Given the description of an element on the screen output the (x, y) to click on. 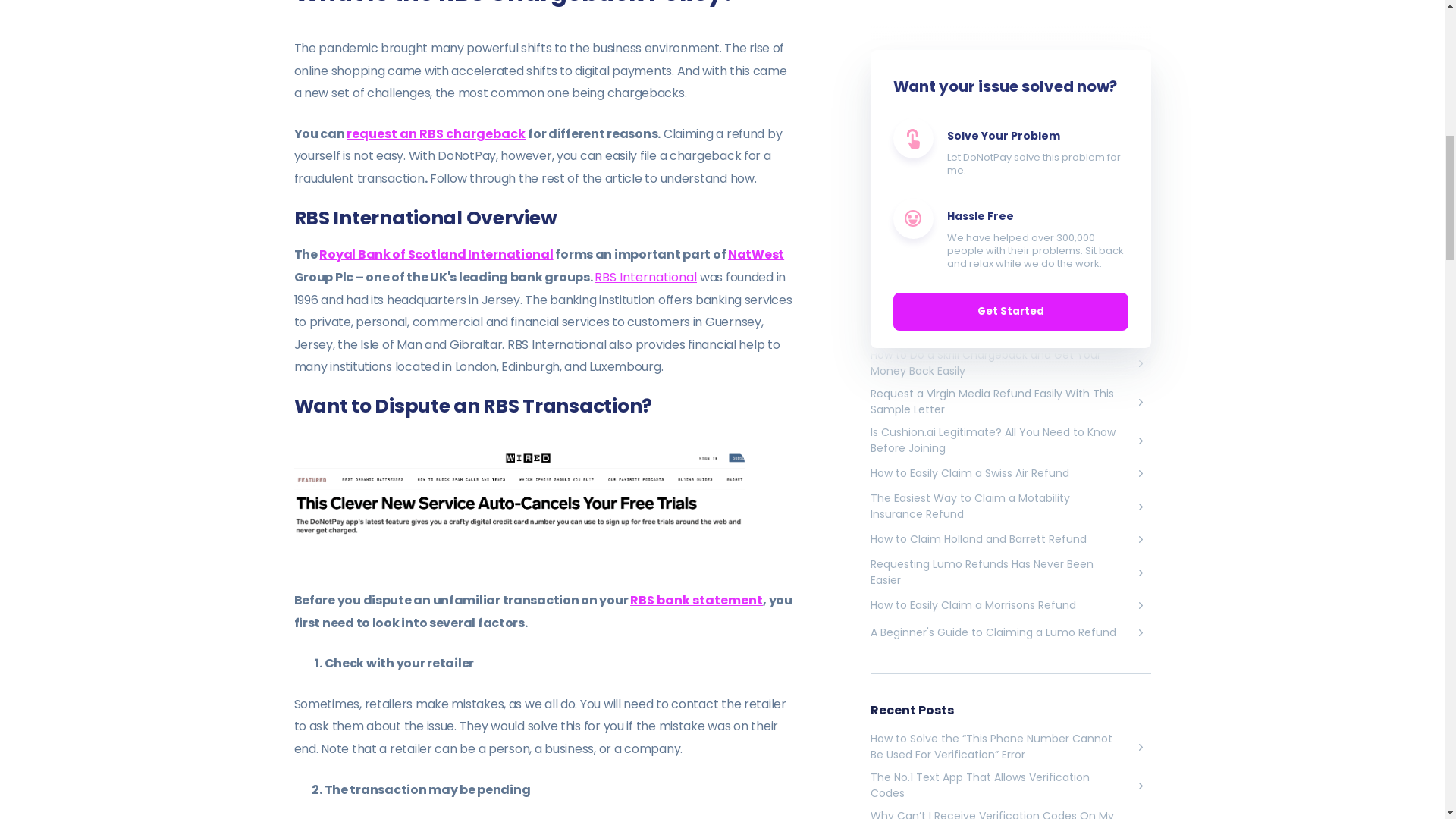
Royal Bank of Scotland International (435, 253)
NatWest (756, 253)
request an RBS chargeback (435, 133)
RBS bank statement (696, 599)
RBS International (645, 276)
